Given the description of an element on the screen output the (x, y) to click on. 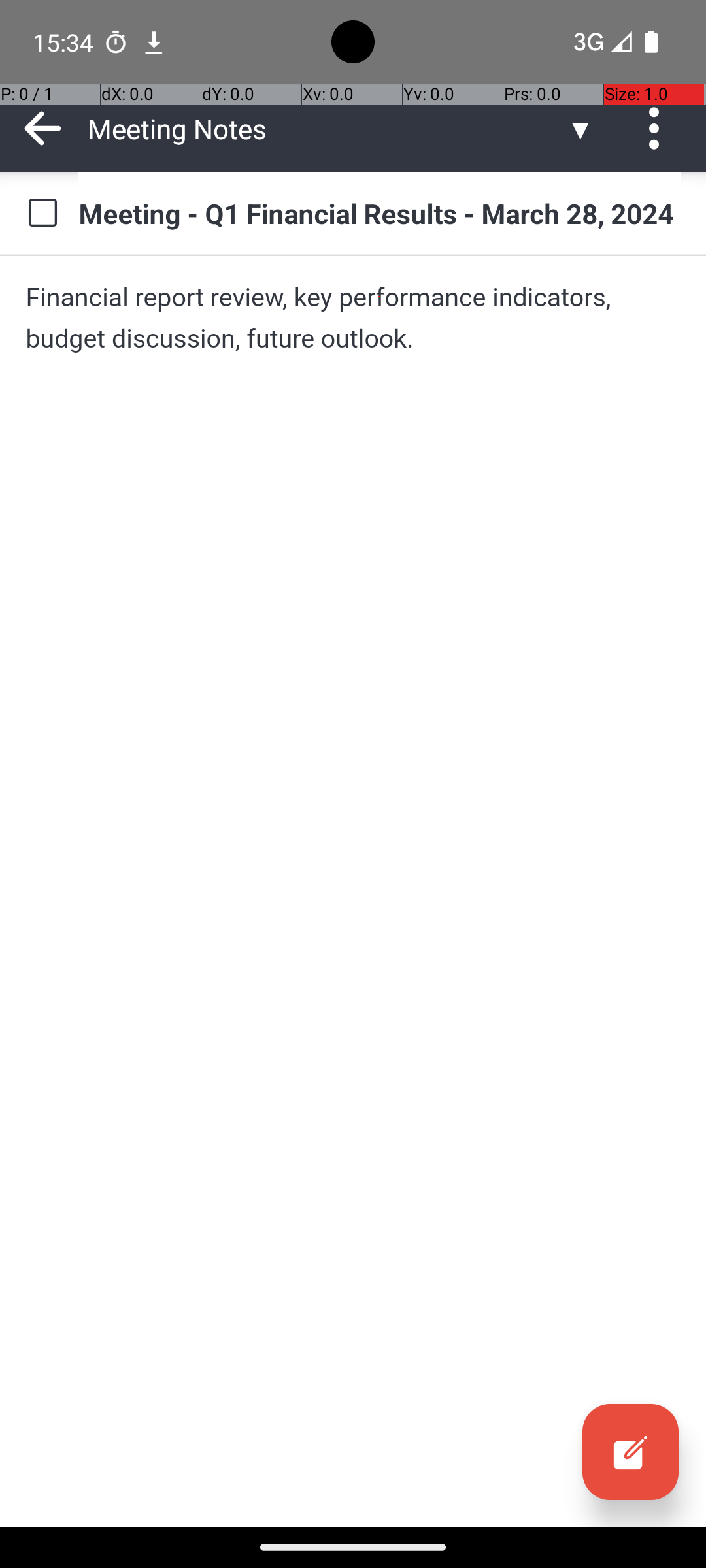
Board Meeting - Q1 Financial Results - March 28, 2024 Element type: android.widget.EditText (378, 213)
Financial report review, key performance indicators, budget discussion, future outlook. Element type: android.widget.TextView (352, 317)
